Given the description of an element on the screen output the (x, y) to click on. 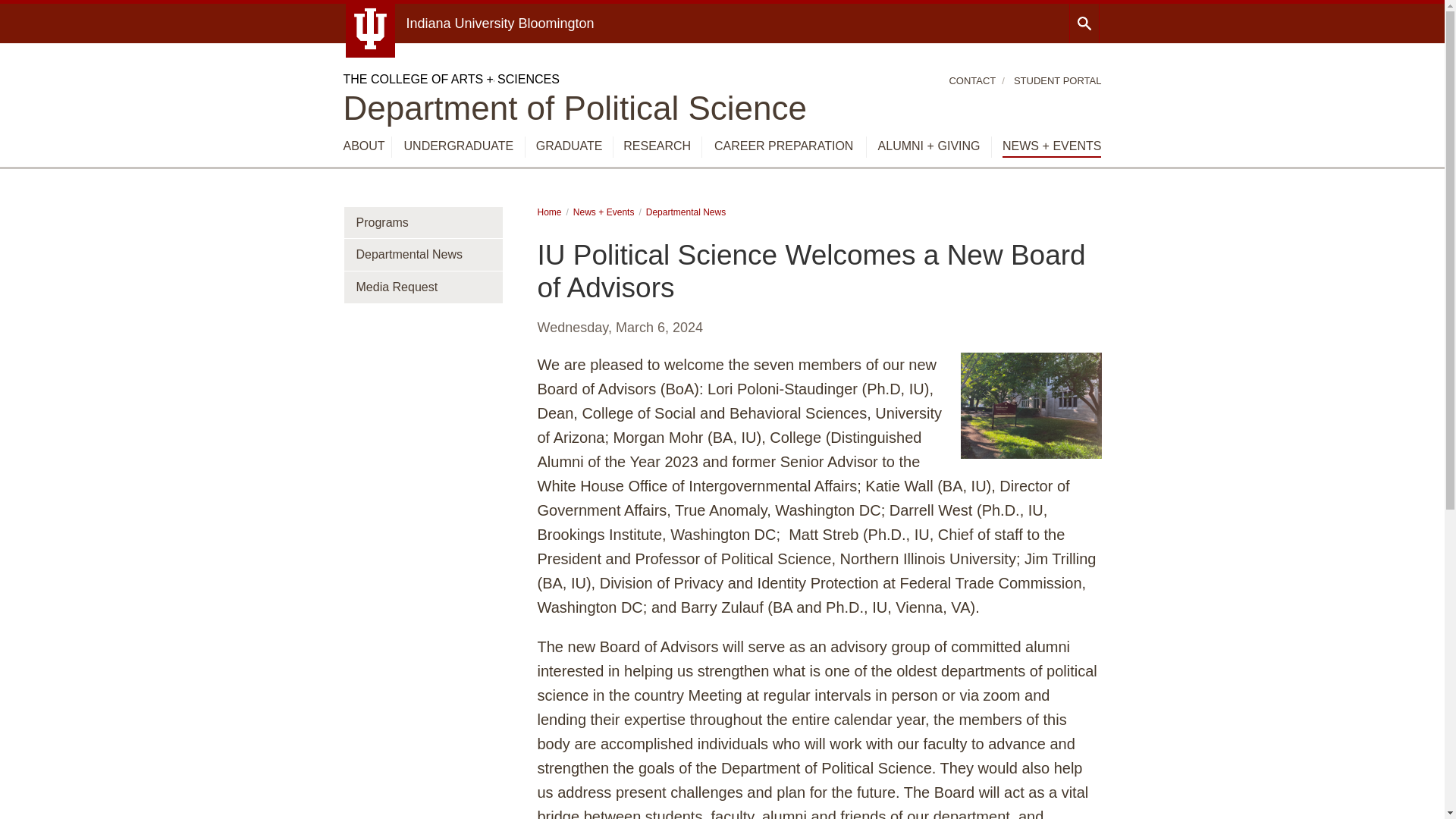
GRADUATE (568, 146)
Indiana University Bloomington (500, 23)
UNDERGRADUATE (458, 146)
ABOUT (363, 146)
Indiana University Bloomington (500, 23)
Department of Political Science (574, 107)
